Given the description of an element on the screen output the (x, y) to click on. 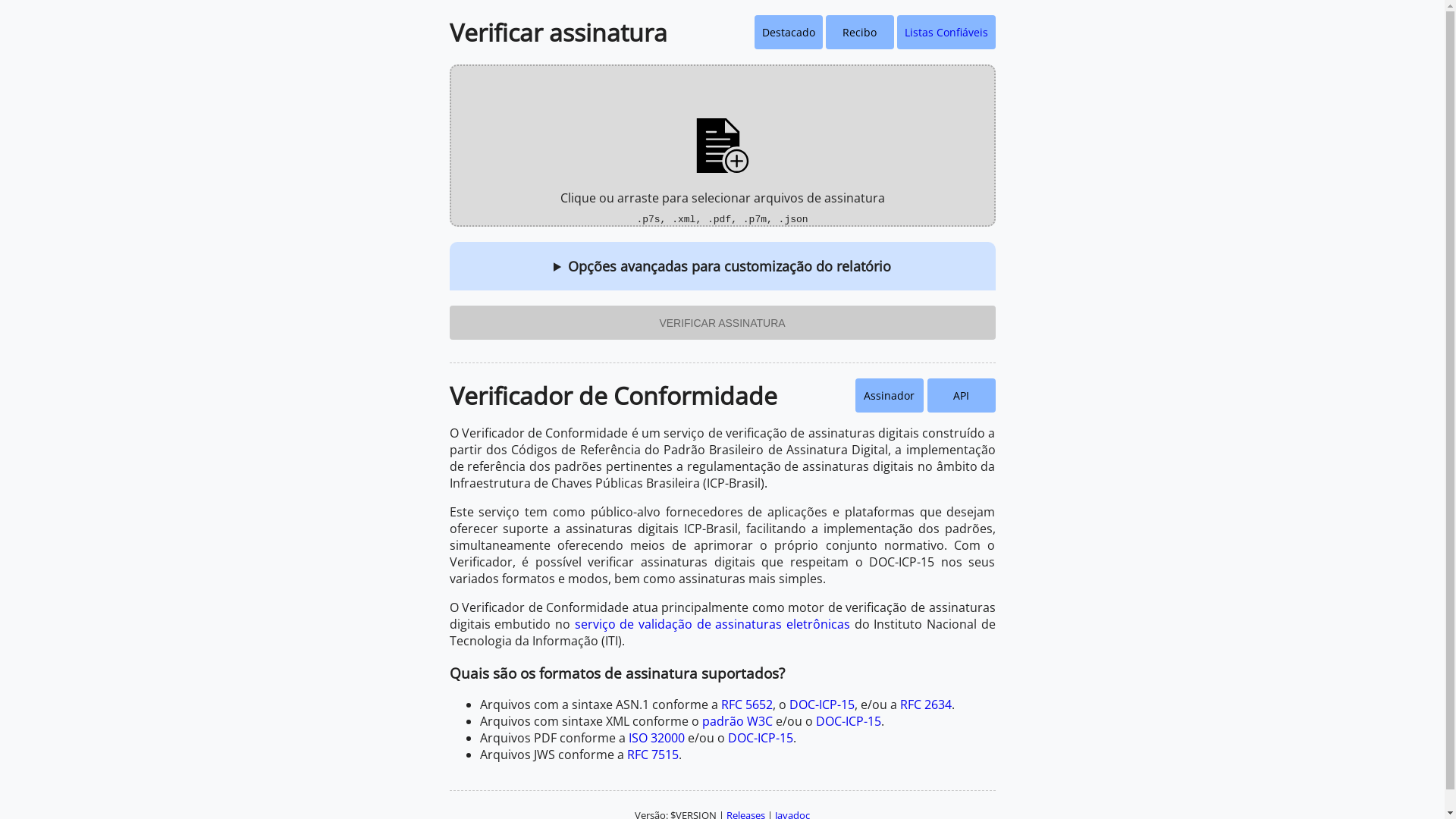
ISO 32000 Element type: text (655, 737)
DOC-ICP-15 Element type: text (760, 737)
on Element type: text (4, 4)
DOC-ICP-15 Element type: text (848, 720)
RFC 5652 Element type: text (745, 704)
API Element type: text (960, 395)
RFC 7515 Element type: text (651, 754)
Assinador Element type: text (889, 395)
RFC 2634 Element type: text (924, 704)
DOC-ICP-15 Element type: text (820, 704)
VERIFICAR ASSINATURA Element type: text (721, 322)
